Given the description of an element on the screen output the (x, y) to click on. 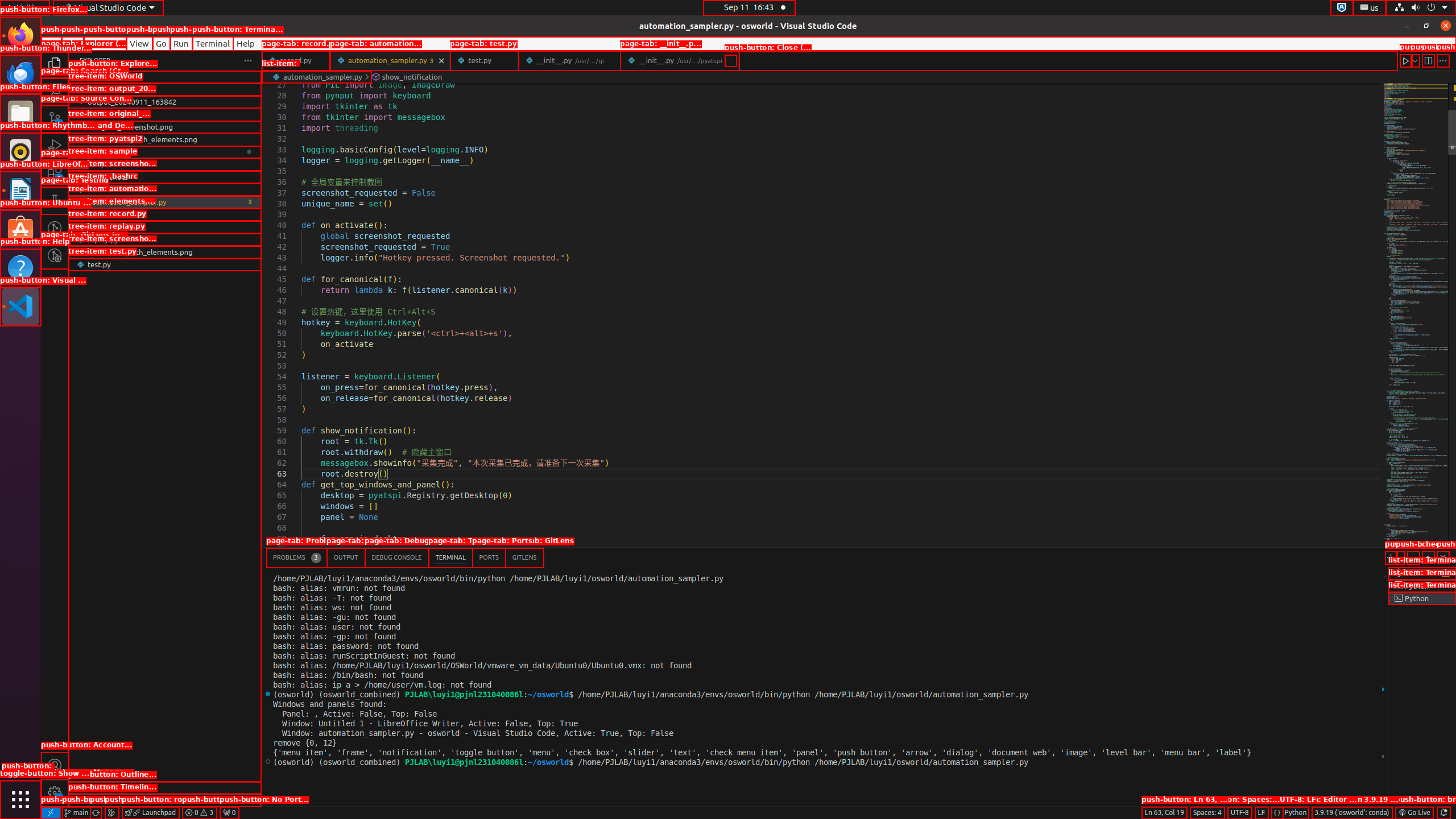
Selection Element type: push-button (104, 43)
Notifications Element type: push-button (1443, 812)
Maximize Panel Size Element type: check-box (1427, 557)
replay.py Element type: tree-item (164, 239)
